Given the description of an element on the screen output the (x, y) to click on. 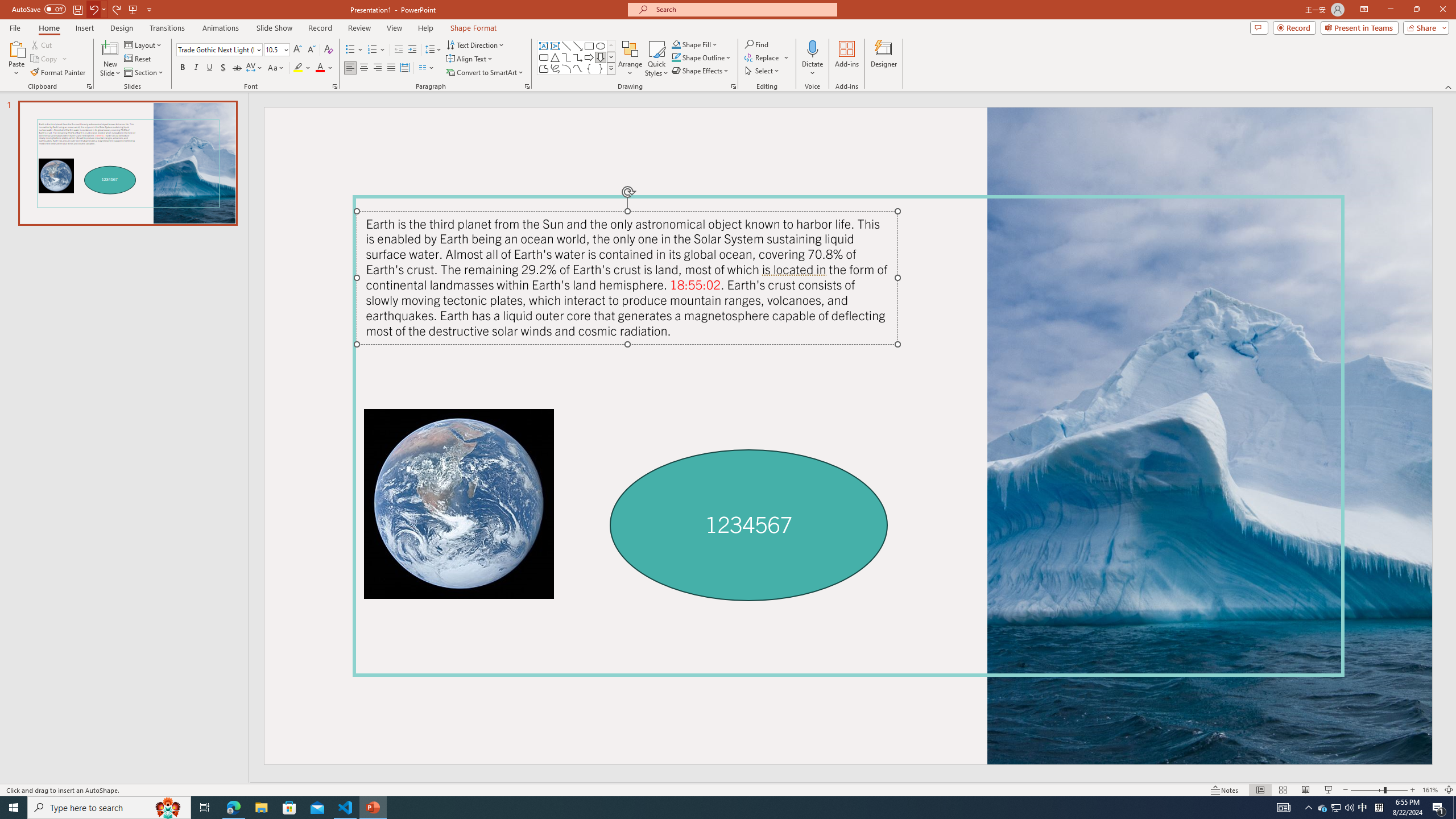
Shape Outline Teal, Accent 1 (675, 56)
